Given the description of an element on the screen output the (x, y) to click on. 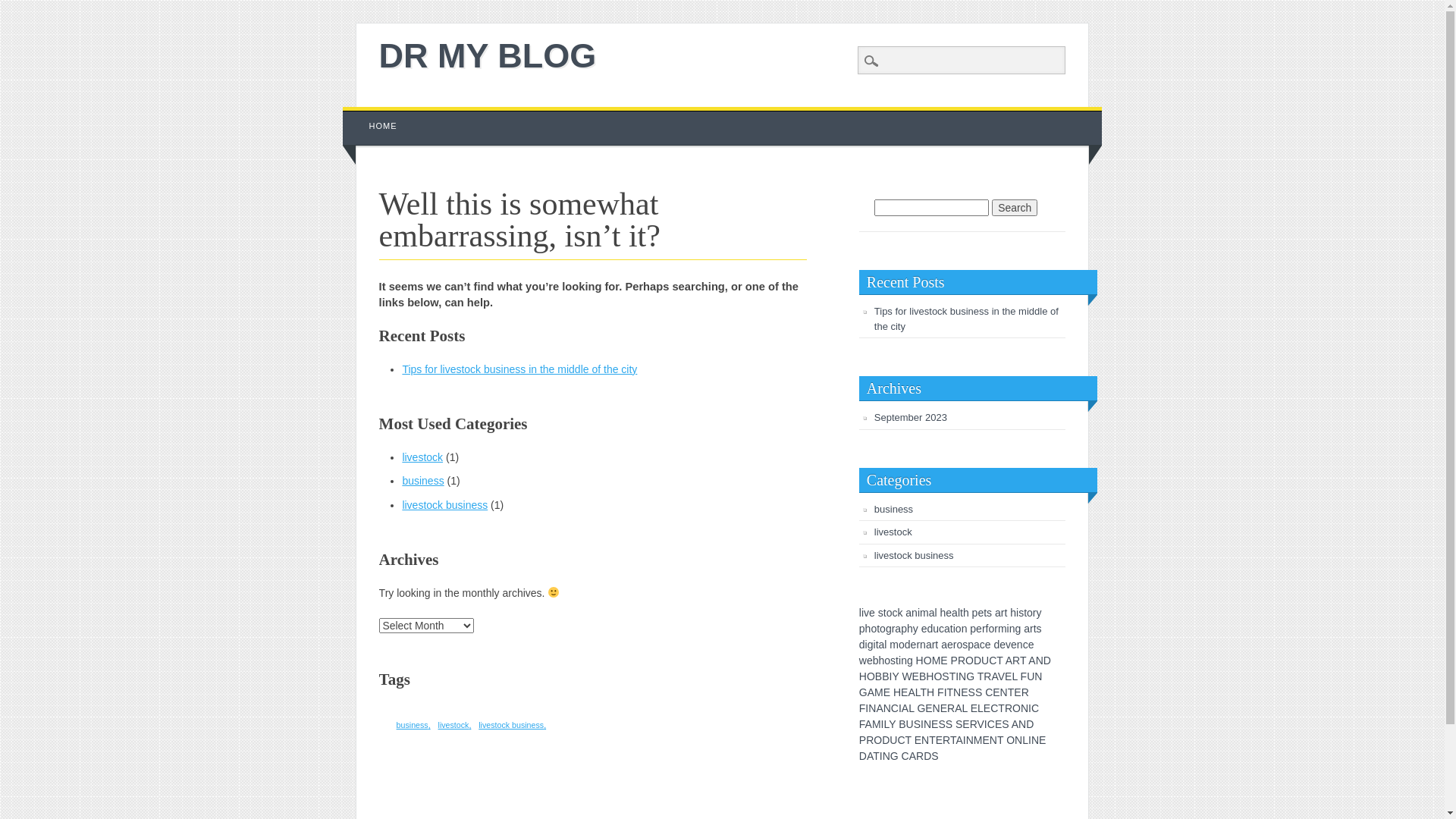
o Element type: text (958, 628)
R Element type: text (1025, 692)
r Element type: text (995, 628)
p Element type: text (972, 628)
E Element type: text (973, 708)
T Element type: text (999, 660)
h Element type: text (1013, 612)
C Element type: text (993, 708)
h Element type: text (943, 612)
H Element type: text (862, 676)
t Element type: text (877, 628)
T Element type: text (952, 676)
E Element type: text (997, 724)
e Element type: text (988, 644)
y Element type: text (915, 628)
e Element type: text (1013, 644)
HOME Element type: text (383, 125)
P Element type: text (862, 740)
r Element type: text (1002, 612)
d Element type: text (907, 644)
N Element type: text (1039, 660)
N Element type: text (1022, 724)
e Element type: text (924, 628)
N Element type: text (956, 692)
I Element type: text (921, 724)
r Element type: text (1031, 628)
L Element type: text (910, 708)
S Element type: text (941, 724)
i Element type: text (1017, 612)
A Element type: text (904, 708)
O Element type: text (927, 660)
T Element type: text (908, 740)
S Element type: text (971, 692)
e Element type: text (948, 612)
Search Element type: text (1014, 207)
e Element type: text (978, 628)
H Element type: text (919, 660)
t Element type: text (984, 612)
N Element type: text (1003, 692)
Y Element type: text (891, 724)
t Element type: text (936, 644)
L Element type: text (885, 724)
I Element type: text (1029, 708)
c Element type: text (894, 612)
A Element type: text (869, 755)
livestock Element type: text (421, 457)
G Element type: text (894, 755)
O Element type: text (870, 676)
o Element type: text (882, 628)
F Element type: text (862, 708)
M Element type: text (977, 740)
t Element type: text (876, 644)
R Element type: text (961, 660)
business Element type: text (413, 724)
a Element type: text (908, 612)
livestock business Element type: text (512, 724)
N Element type: text (1034, 740)
R Element type: text (1015, 660)
T Element type: text (875, 755)
l Element type: text (935, 612)
i Element type: text (1008, 628)
C Element type: text (894, 708)
A Element type: text (868, 724)
t Element type: text (1034, 628)
business Element type: text (422, 480)
C Element type: text (990, 724)
R Element type: text (973, 724)
A Element type: text (870, 692)
E Element type: text (995, 692)
F Element type: text (862, 724)
L Element type: text (964, 708)
A Element type: text (912, 755)
S Element type: text (1004, 724)
e Element type: text (869, 660)
N Element type: text (969, 740)
O Element type: text (969, 660)
H Element type: text (929, 676)
E Element type: text (886, 692)
M Element type: text (936, 660)
a Element type: text (1026, 628)
t Element type: text (896, 660)
m Element type: text (1002, 628)
E Element type: text (934, 724)
G Element type: text (863, 692)
o Element type: text (991, 628)
d Element type: text (862, 644)
g Element type: text (870, 644)
t Element type: text (884, 612)
F Element type: text (1023, 676)
Skip to content Element type: text (377, 114)
s Element type: text (1038, 628)
Tips for livestock business in the middle of the city Element type: text (966, 318)
h Element type: text (881, 660)
T Element type: text (923, 692)
N Element type: text (887, 708)
i Element type: text (866, 644)
s Element type: text (880, 612)
F Element type: text (940, 692)
i Element type: text (862, 612)
September 2023 Element type: text (910, 417)
l Element type: text (860, 612)
E Element type: text (915, 676)
I Element type: text (985, 724)
B Element type: text (901, 724)
L Element type: text (1025, 740)
S Element type: text (958, 724)
Search Element type: text (22, 8)
T Element type: text (953, 740)
d Element type: text (929, 628)
N Element type: text (1024, 708)
R Element type: text (1008, 708)
b Element type: text (875, 660)
N Element type: text (927, 724)
f Element type: text (986, 628)
v Element type: text (866, 612)
U Element type: text (909, 724)
n Element type: text (914, 612)
i Element type: text (954, 628)
S Element type: text (916, 724)
E Element type: text (917, 740)
N Element type: text (871, 708)
l Element type: text (885, 644)
R Element type: text (950, 708)
e Element type: text (872, 612)
E Element type: text (938, 740)
p Element type: text (862, 628)
i Element type: text (899, 660)
S Element type: text (948, 724)
D Element type: text (862, 755)
C Element type: text (988, 692)
u Element type: text (935, 628)
D Element type: text (1029, 724)
o Element type: text (959, 644)
n Element type: text (1012, 628)
e Element type: text (950, 644)
O Element type: text (1010, 740)
A Element type: text (878, 708)
O Element type: text (877, 740)
r Element type: text (1034, 612)
H Element type: text (896, 692)
T Element type: text (1000, 740)
s Element type: text (988, 612)
livestock business Element type: text (444, 504)
E Element type: text (986, 708)
C Element type: text (905, 755)
S Element type: text (944, 676)
I Element type: text (1029, 740)
A Element type: text (910, 692)
D Element type: text (885, 740)
t Element type: text (1024, 612)
E Element type: text (1041, 740)
Tips for livestock business in the middle of the city Element type: text (519, 369)
G Element type: text (970, 676)
A Element type: text (957, 708)
l Element type: text (958, 612)
D Element type: text (927, 755)
B Element type: text (922, 676)
A Element type: text (1031, 660)
T Element type: text (1010, 692)
e Element type: text (1002, 644)
I Element type: text (964, 740)
S Element type: text (934, 755)
y Element type: text (1038, 612)
L Element type: text (980, 708)
P Element type: text (953, 660)
A Element type: text (1008, 660)
a Element type: text (976, 644)
I Element type: text (956, 676)
I Element type: text (945, 692)
E Element type: text (965, 724)
c Element type: text (941, 628)
s Element type: text (1020, 612)
S Element type: text (978, 692)
o Element type: text (889, 612)
n Element type: text (964, 628)
g Element type: text (1018, 628)
a Element type: text (928, 644)
p Element type: text (903, 628)
N Element type: text (886, 755)
m Element type: text (923, 612)
B Element type: text (878, 676)
o Element type: text (901, 644)
n Element type: text (903, 660)
E Element type: text (963, 692)
r Element type: text (933, 644)
I Element type: text (866, 708)
business Element type: text (893, 508)
c Element type: text (1025, 644)
i Element type: text (918, 612)
o Element type: text (873, 628)
p Element type: text (970, 644)
DR MY BLOG Element type: text (487, 55)
h Element type: text (868, 628)
L Element type: text (1013, 676)
r Element type: text (893, 628)
o Element type: text (1029, 612)
Y Element type: text (894, 676)
M Element type: text (876, 724)
t Element type: text (1005, 612)
p Element type: text (975, 612)
R Element type: text (987, 676)
R Element type: text (919, 755)
e Element type: text (1031, 644)
r Element type: text (917, 644)
N Element type: text (1018, 740)
U Element type: text (1030, 676)
E Element type: text (1016, 692)
E Element type: text (903, 692)
a Element type: text (997, 612)
e Element type: text (913, 644)
V Element type: text (980, 724)
a Element type: text (897, 628)
livestock Element type: text (454, 724)
E Element type: text (943, 708)
C Element type: text (1034, 708)
i Element type: text (874, 644)
w Element type: text (862, 660)
m Element type: text (893, 644)
n Element type: text (922, 644)
U Element type: text (984, 660)
O Element type: text (937, 676)
R Element type: text (869, 740)
A Element type: text (1014, 724)
r Element type: text (983, 628)
a Element type: text (881, 644)
N Element type: text (1037, 676)
E Element type: text (943, 660)
h Element type: text (966, 612)
livestock Element type: text (893, 531)
n Element type: text (1019, 644)
livestock business Element type: text (913, 555)
E Element type: text (985, 740)
O Element type: text (1016, 708)
A Element type: text (994, 676)
a Element type: text (931, 612)
I Element type: text (889, 676)
U Element type: text (893, 740)
I Element type: text (882, 724)
T Element type: text (980, 676)
s Element type: text (892, 660)
C Element type: text (900, 740)
k Element type: text (899, 612)
v Element type: text (1007, 644)
I Element type: text (899, 708)
t Element type: text (951, 628)
a Element type: text (954, 612)
T Element type: text (1000, 708)
s Element type: text (964, 644)
G Element type: text (920, 708)
R Element type: text (946, 740)
T Element type: text (950, 692)
r Element type: text (955, 644)
A Element type: text (958, 740)
I Element type: text (880, 755)
E Element type: text (1007, 676)
N Element type: text (924, 740)
D Element type: text (977, 660)
t Element type: text (961, 612)
M Element type: text (878, 692)
L Element type: text (917, 692)
T Element type: text (1022, 660)
g Element type: text (909, 660)
W Element type: text (906, 676)
E Element type: text (928, 708)
H Element type: text (930, 692)
e Element type: text (980, 612)
d Element type: text (996, 644)
c Element type: text (982, 644)
V Element type: text (1000, 676)
g Element type: text (888, 628)
N Element type: text (993, 740)
T Element type: text (931, 740)
N Element type: text (962, 676)
a Element type: text (944, 644)
C Element type: text (992, 660)
a Element type: text (947, 628)
o Element type: text (887, 660)
h Element type: text (909, 628)
B Element type: text (884, 676)
D Element type: text (1047, 660)
N Element type: text (936, 708)
